Given the description of an element on the screen output the (x, y) to click on. 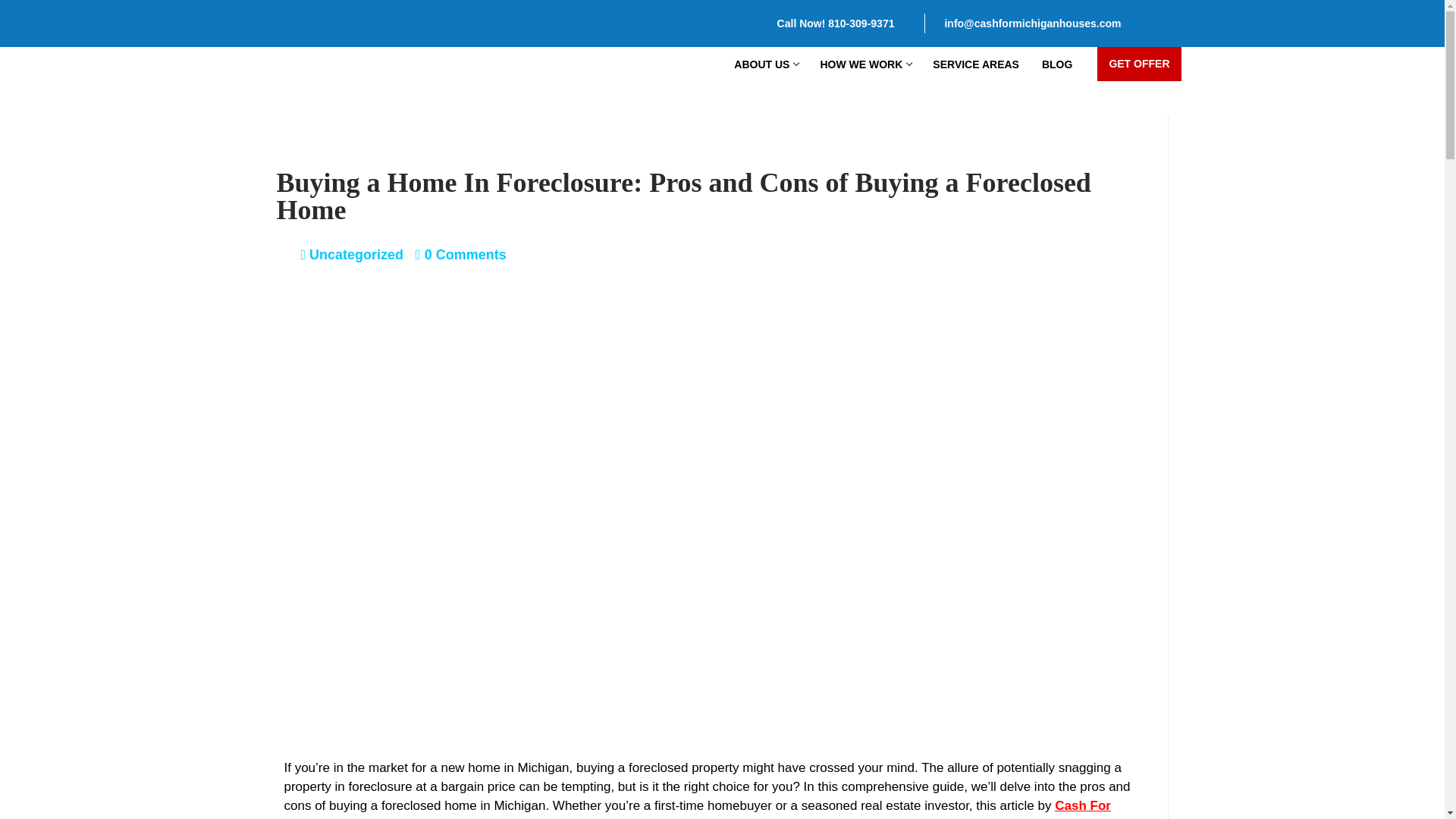
BLOG (765, 63)
GET OFFER (1056, 63)
Call Now! 810-309-9371 (1138, 63)
SERVICE AREAS (835, 22)
